Given the description of an element on the screen output the (x, y) to click on. 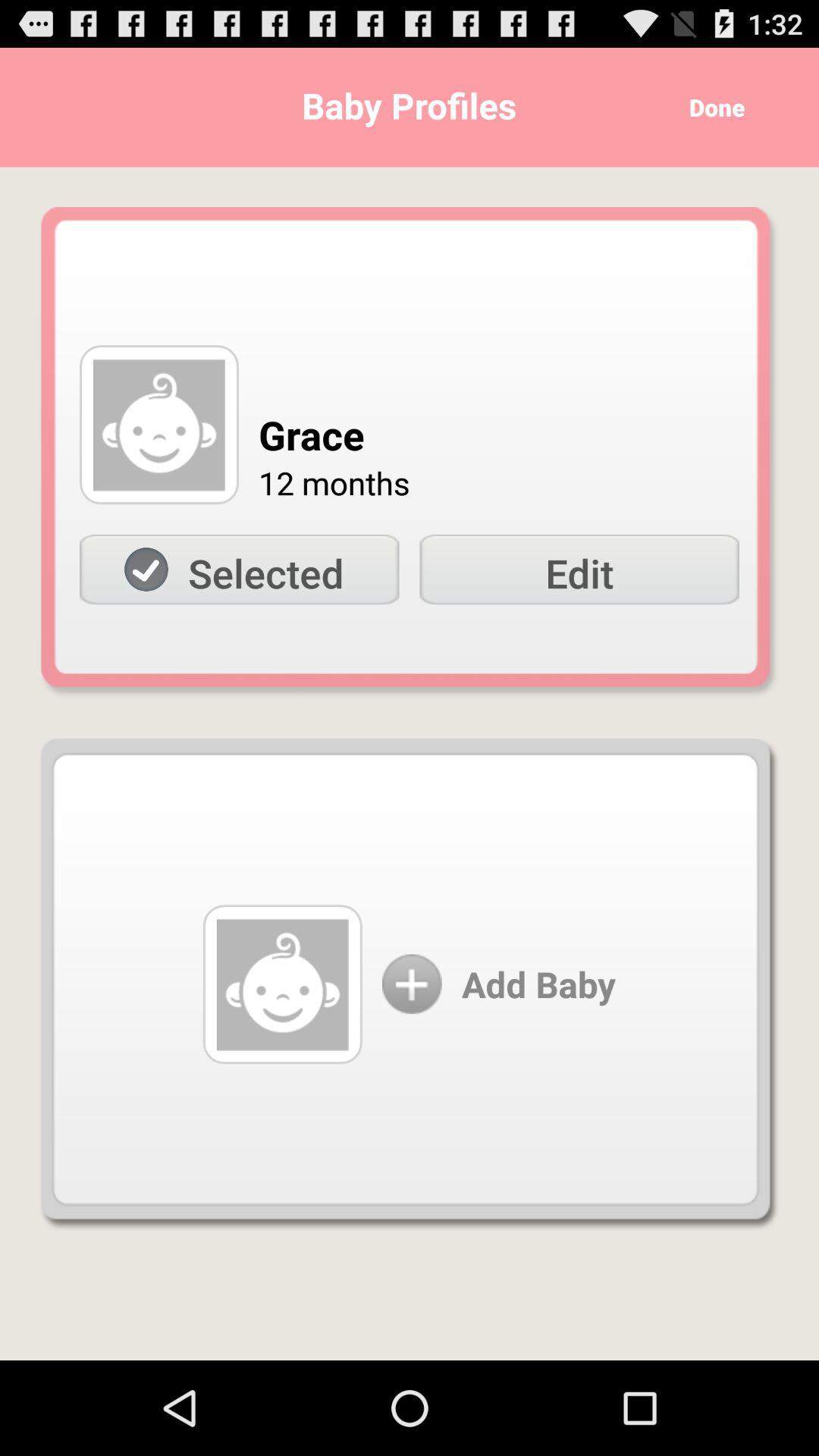
press icon above edit icon (711, 107)
